Given the description of an element on the screen output the (x, y) to click on. 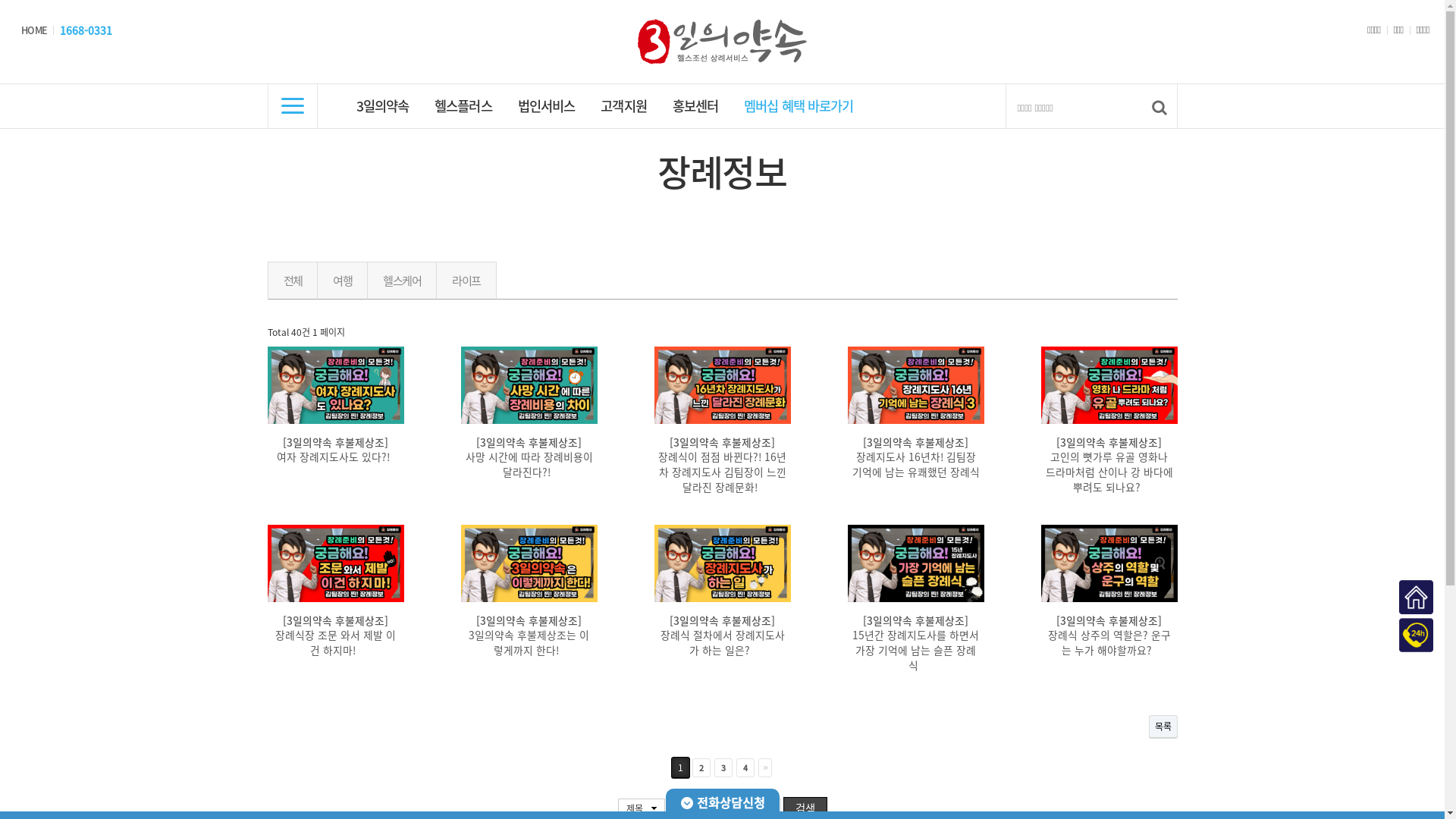
4 Element type: text (745, 767)
3 Element type: text (723, 767)
HOME Element type: text (34, 29)
2 Element type: text (701, 767)
